Given the description of an element on the screen output the (x, y) to click on. 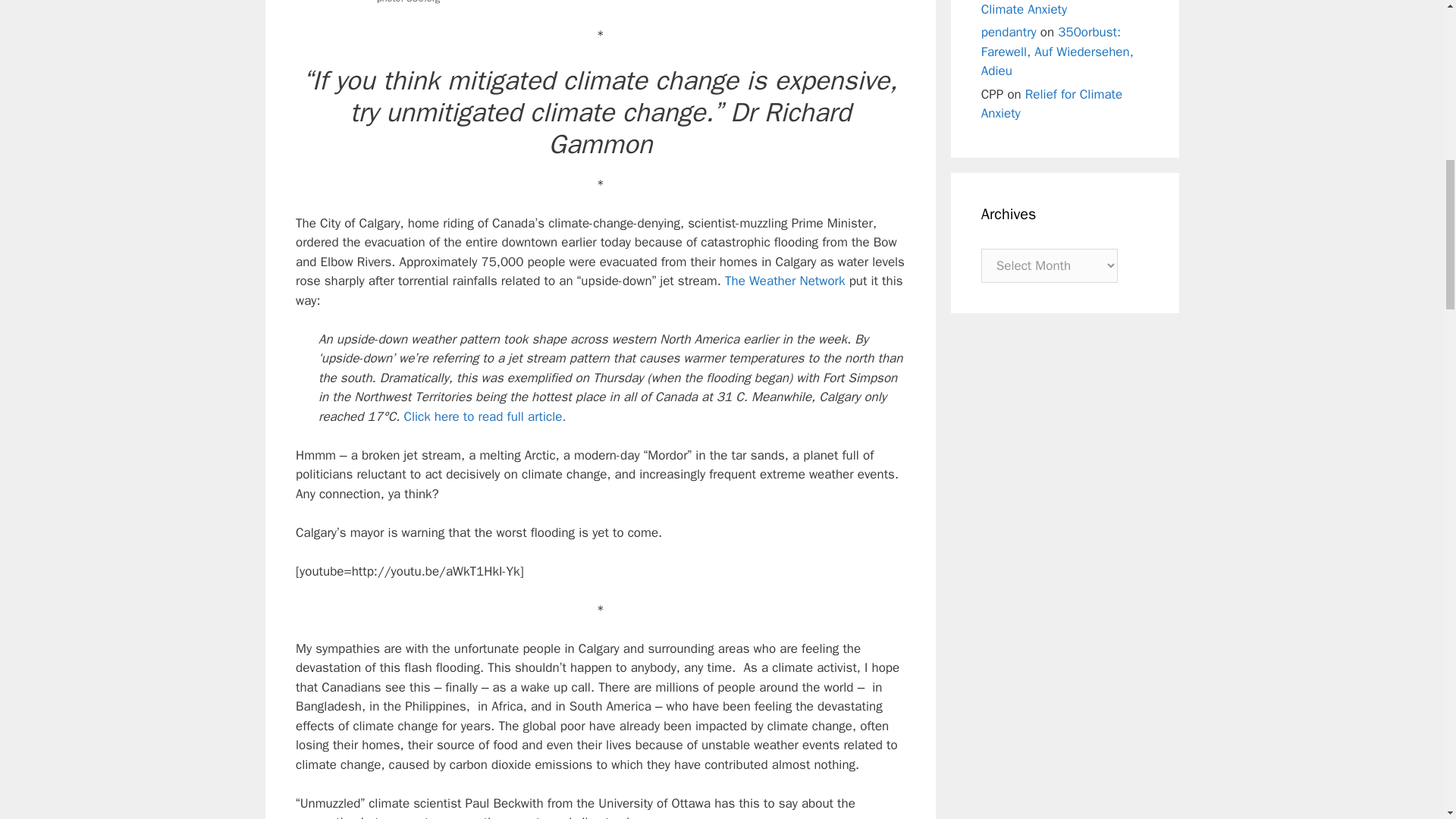
Click here to read full article. (484, 416)
The Weather Network (785, 280)
